Given the description of an element on the screen output the (x, y) to click on. 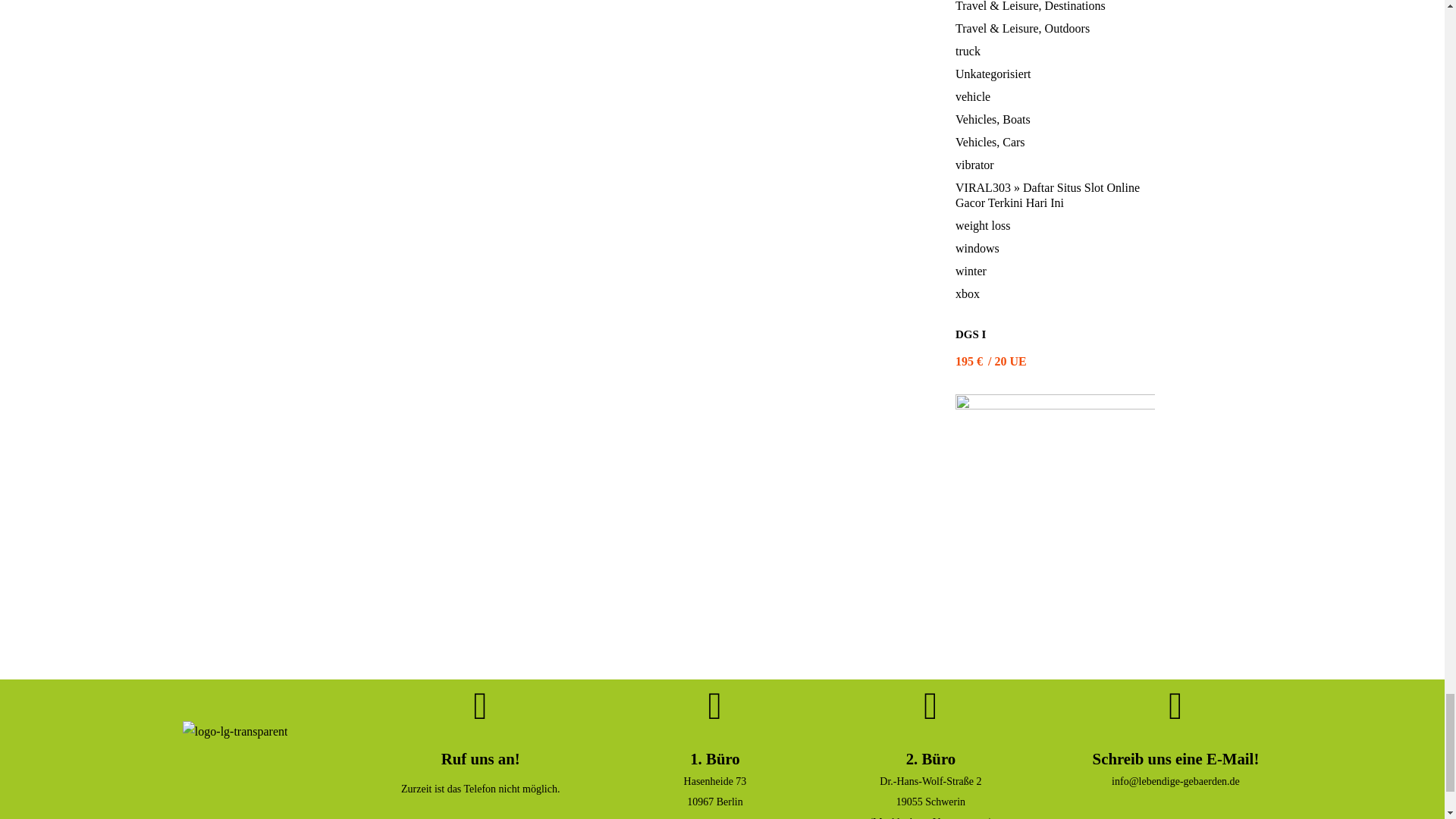
logo-lg-transparent (235, 757)
